Given the description of an element on the screen output the (x, y) to click on. 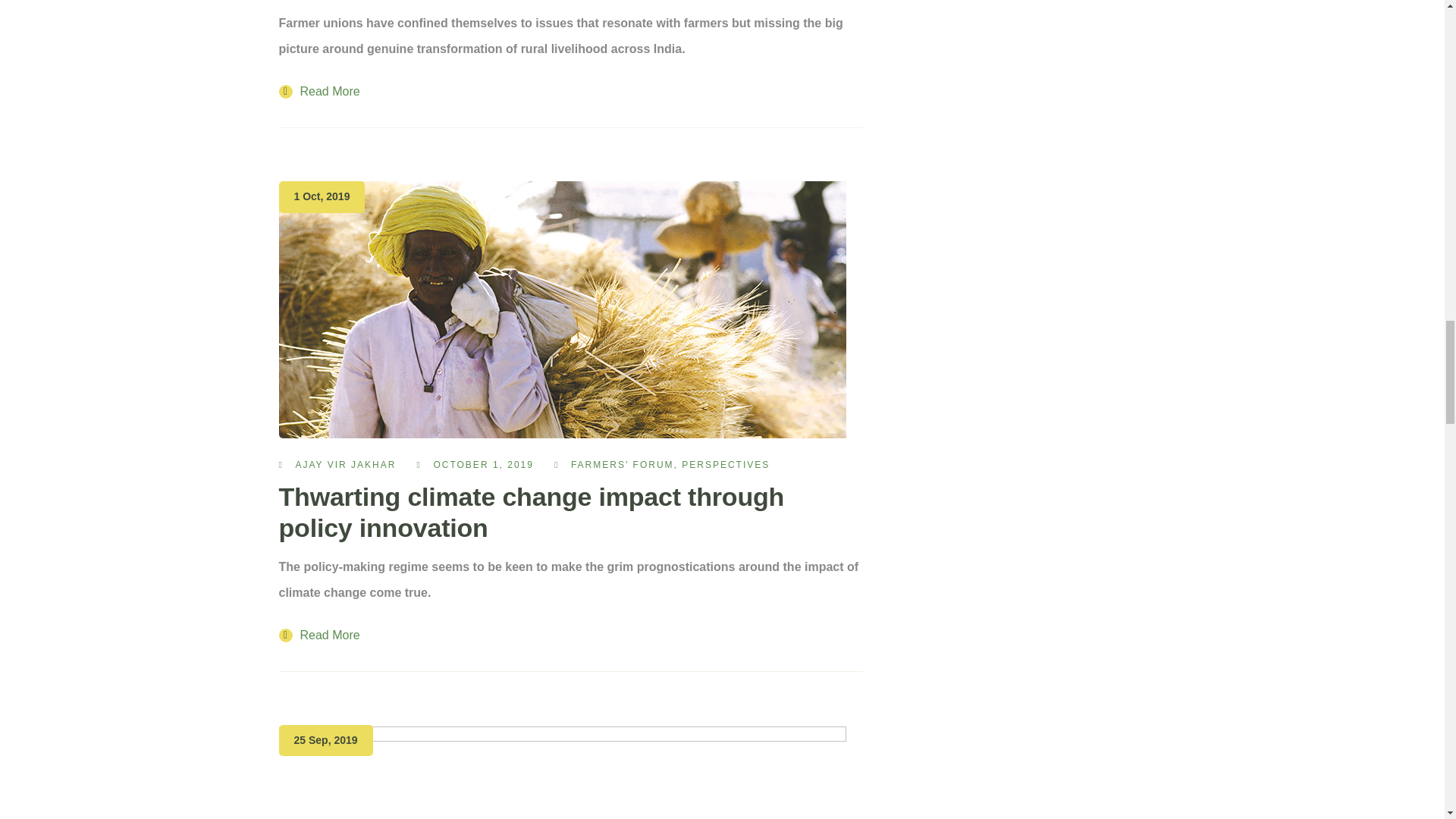
View all posts by Ajay Vir Jakhar (345, 464)
Read More (319, 91)
Read More (319, 635)
